Given the description of an element on the screen output the (x, y) to click on. 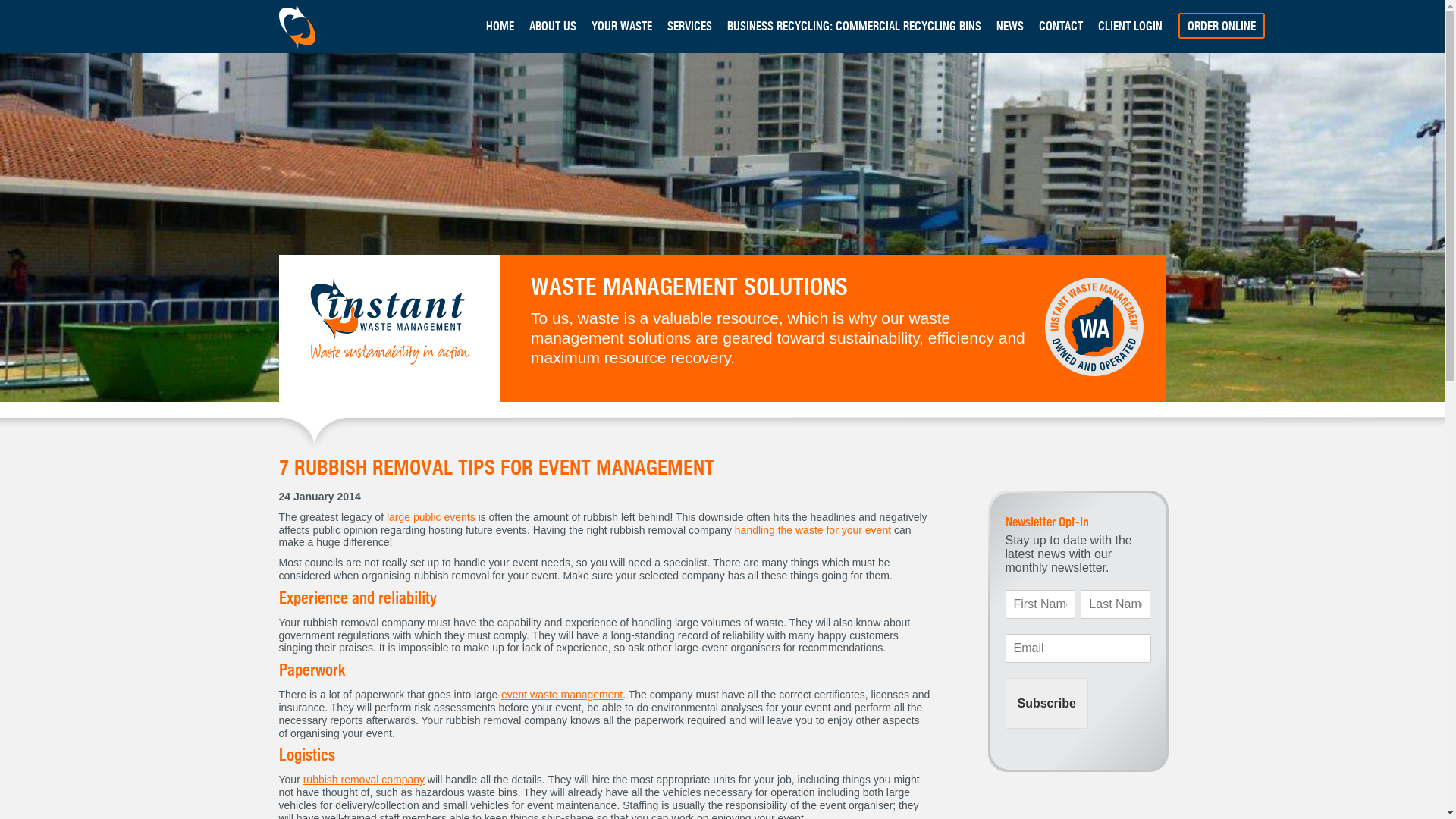
BUSINESS RECYCLING: COMMERCIAL RECYCLING BINS Element type: text (853, 26)
ORDER ONLINE Element type: text (1221, 25)
large public events Element type: text (430, 516)
return to the home page Element type: hover (301, 27)
CONTACT Element type: text (1060, 26)
handling the waste for your event Element type: text (811, 529)
SERVICES Element type: text (689, 26)
Subscribe Element type: text (1046, 702)
rubbish removal company Element type: text (363, 778)
event waste management Element type: text (561, 694)
NEWS Element type: text (1009, 26)
ABOUT US Element type: text (552, 26)
return to the home page Element type: hover (389, 322)
HOME Element type: text (498, 26)
YOUR WASTE Element type: text (621, 26)
CLIENT LOGIN Element type: text (1130, 26)
